Given the description of an element on the screen output the (x, y) to click on. 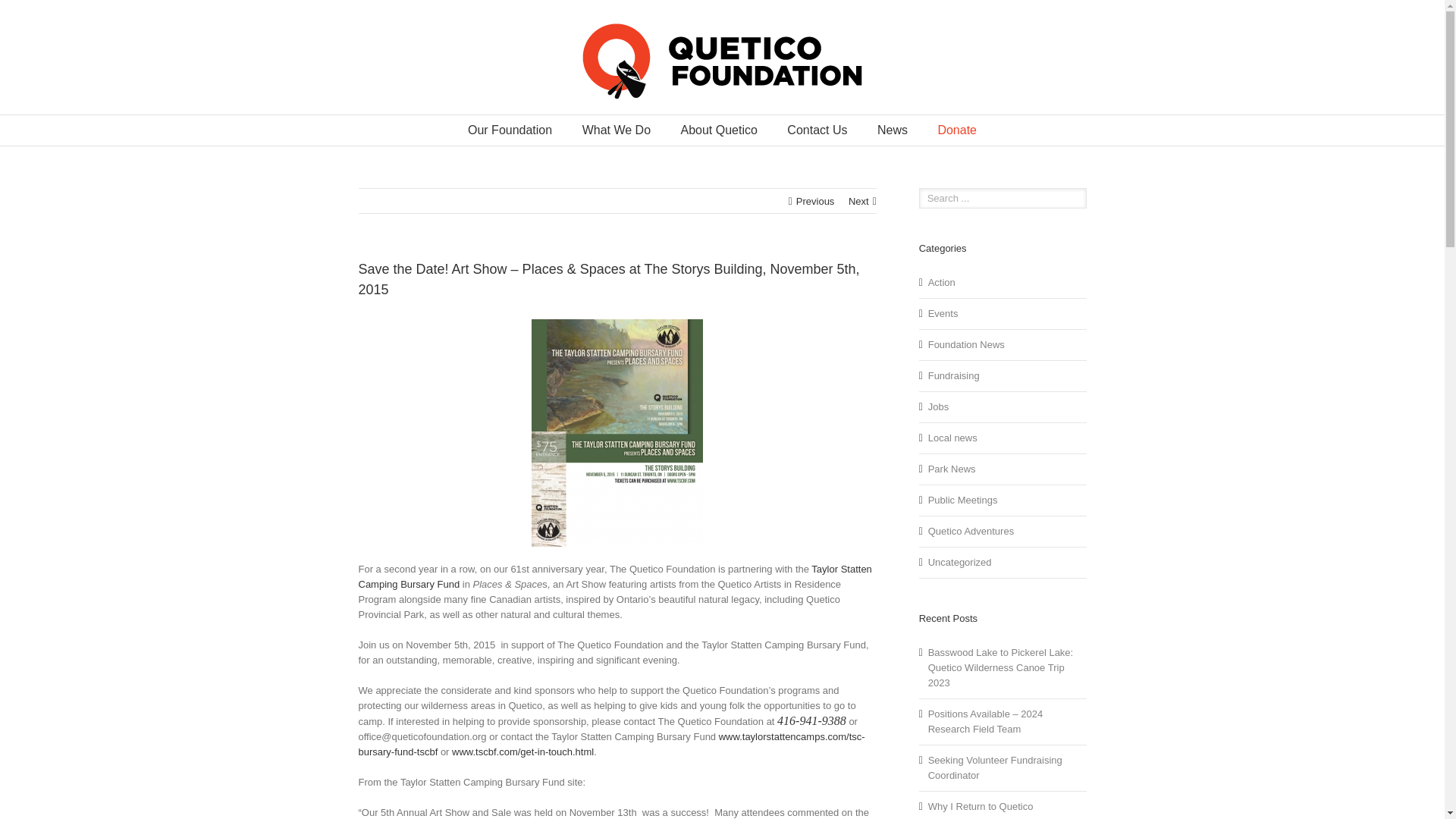
Previous (815, 201)
About Quetico (718, 130)
Our Foundation (509, 130)
News (892, 130)
What We Do (616, 130)
Donate (956, 130)
Contact Us (817, 130)
